Given the description of an element on the screen output the (x, y) to click on. 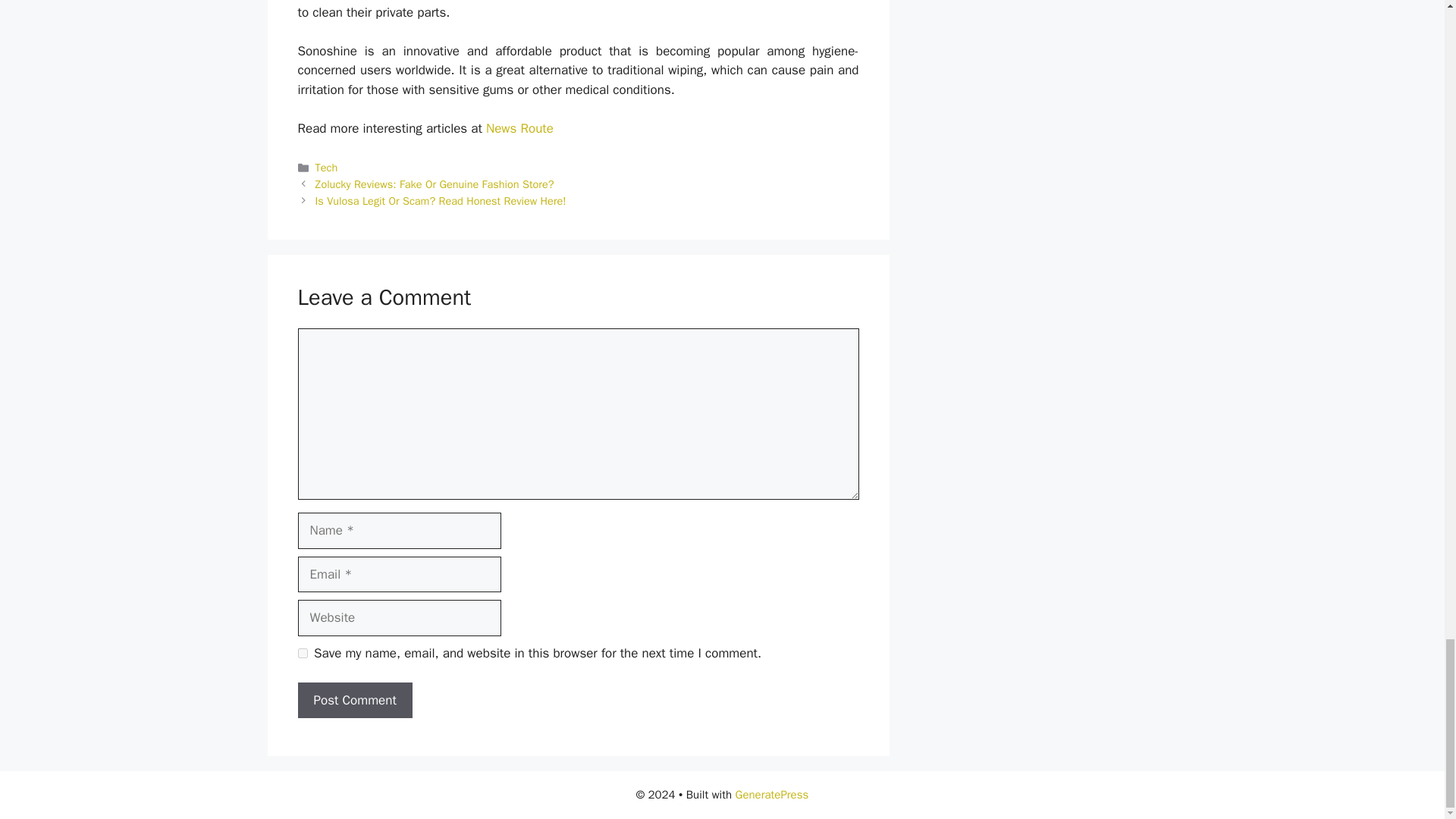
Is Vulosa Legit Or Scam? Read Honest Review Here! (440, 201)
Tech (326, 167)
Zolucky Reviews: Fake Or Genuine Fashion Store? (434, 183)
Post Comment (354, 700)
Post Comment (354, 700)
yes (302, 653)
News Route (519, 128)
